Given the description of an element on the screen output the (x, y) to click on. 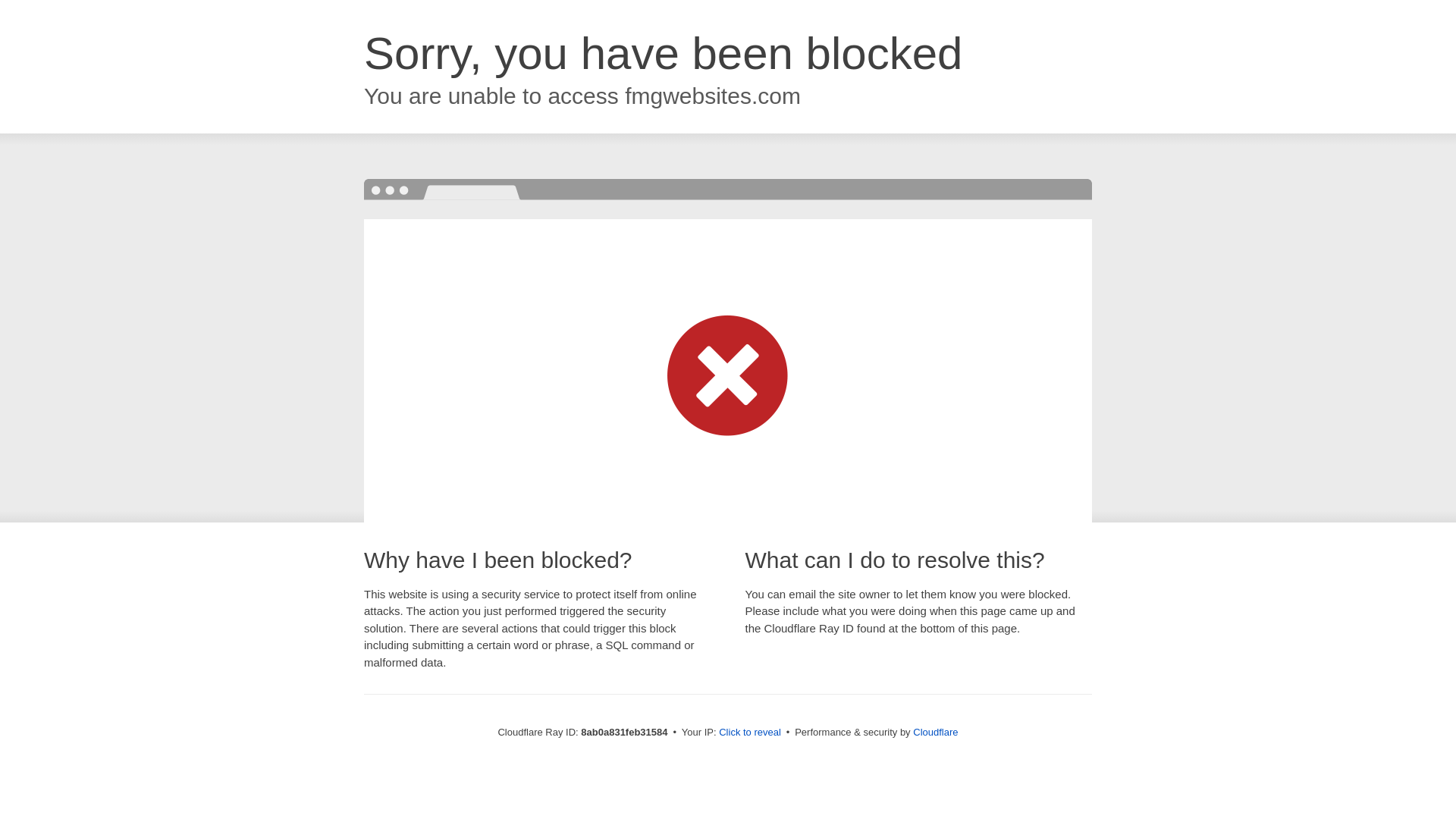
Cloudflare (935, 731)
Click to reveal (749, 732)
